Given the description of an element on the screen output the (x, y) to click on. 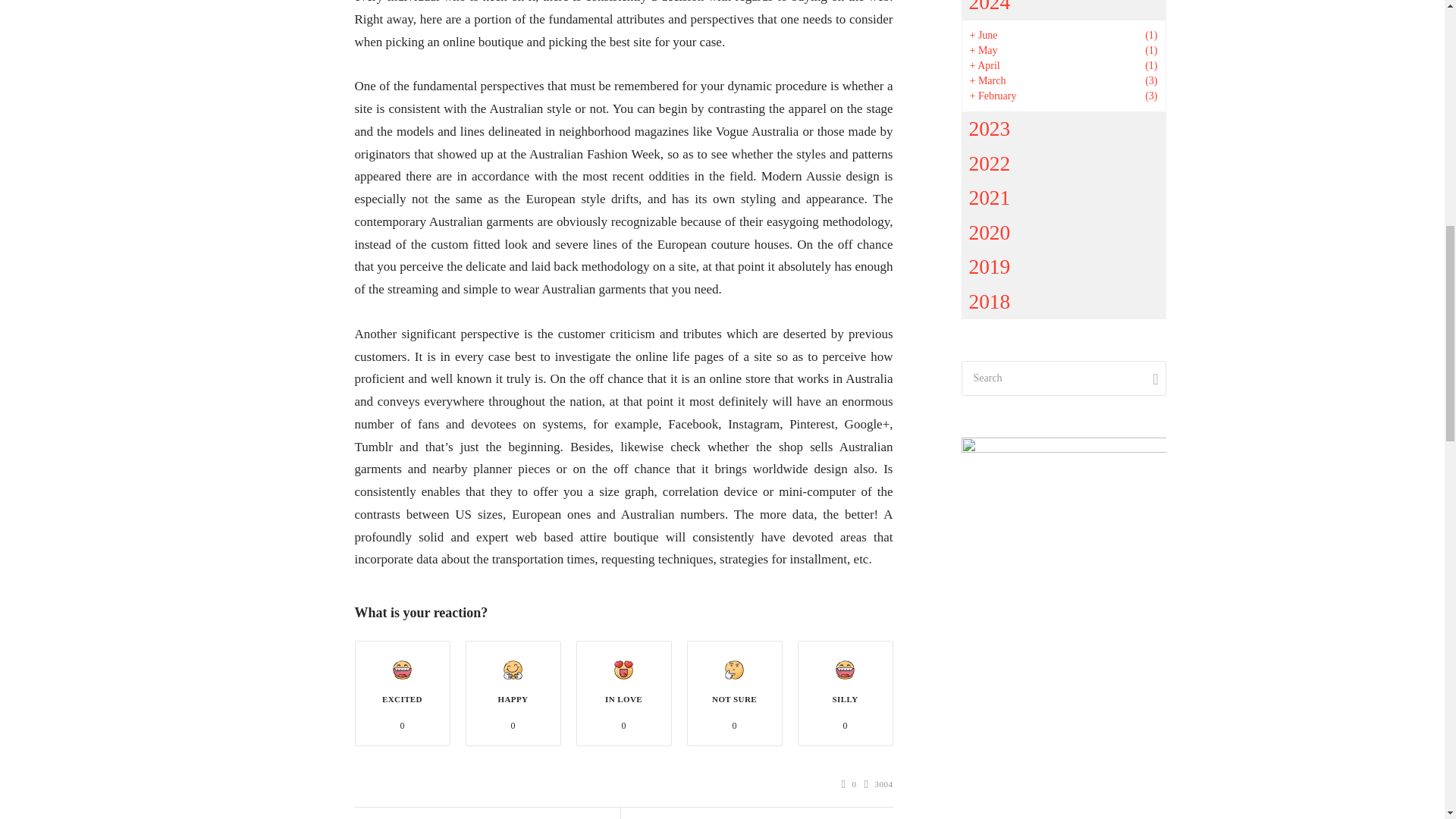
3004 (878, 784)
0 (849, 784)
